Given the description of an element on the screen output the (x, y) to click on. 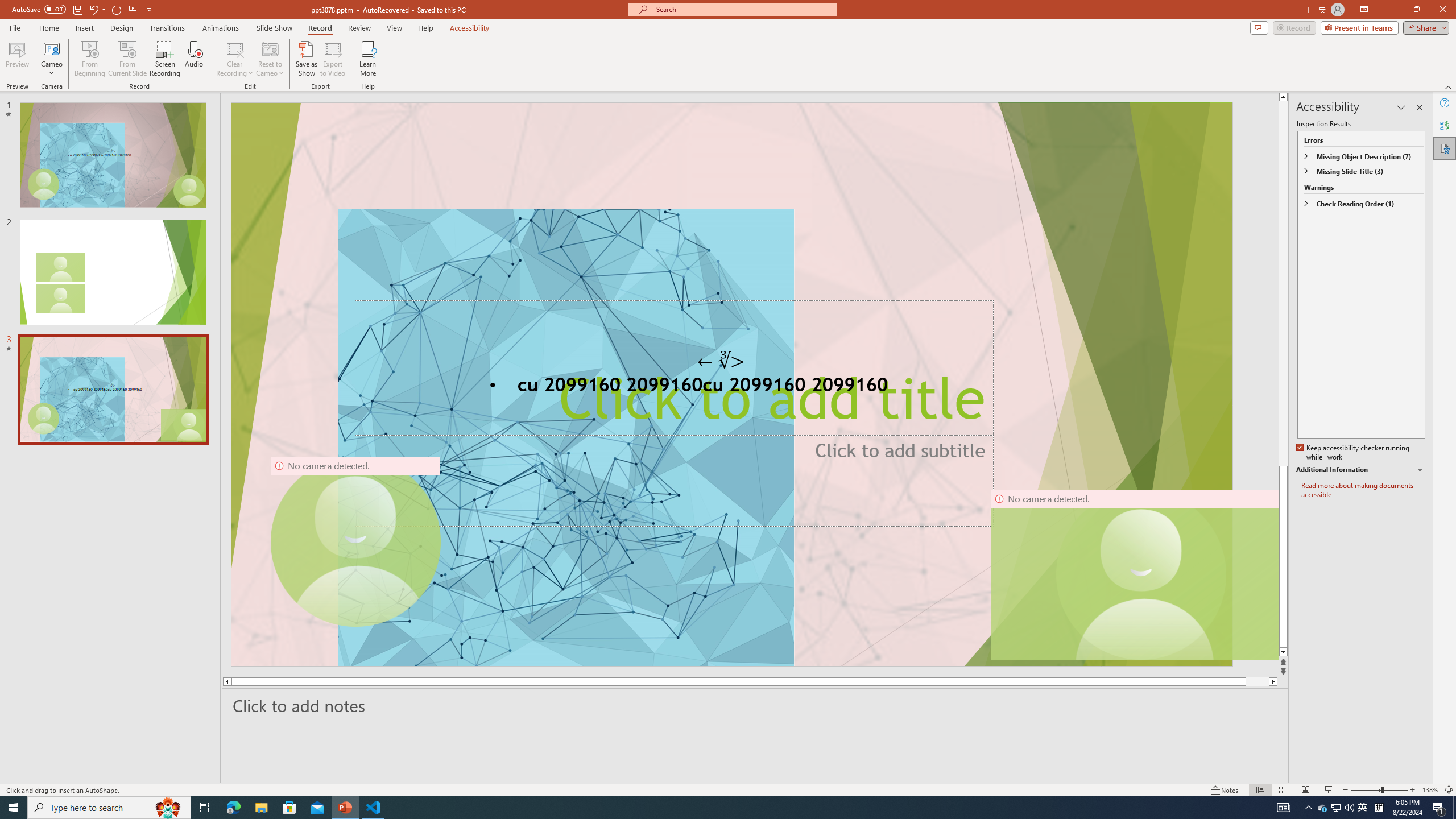
Screen Recording (165, 58)
Slide Notes (755, 705)
Audio (193, 58)
TextBox 7 (720, 360)
Learn More (368, 58)
Subtitle TextBox (673, 480)
